Given the description of an element on the screen output the (x, y) to click on. 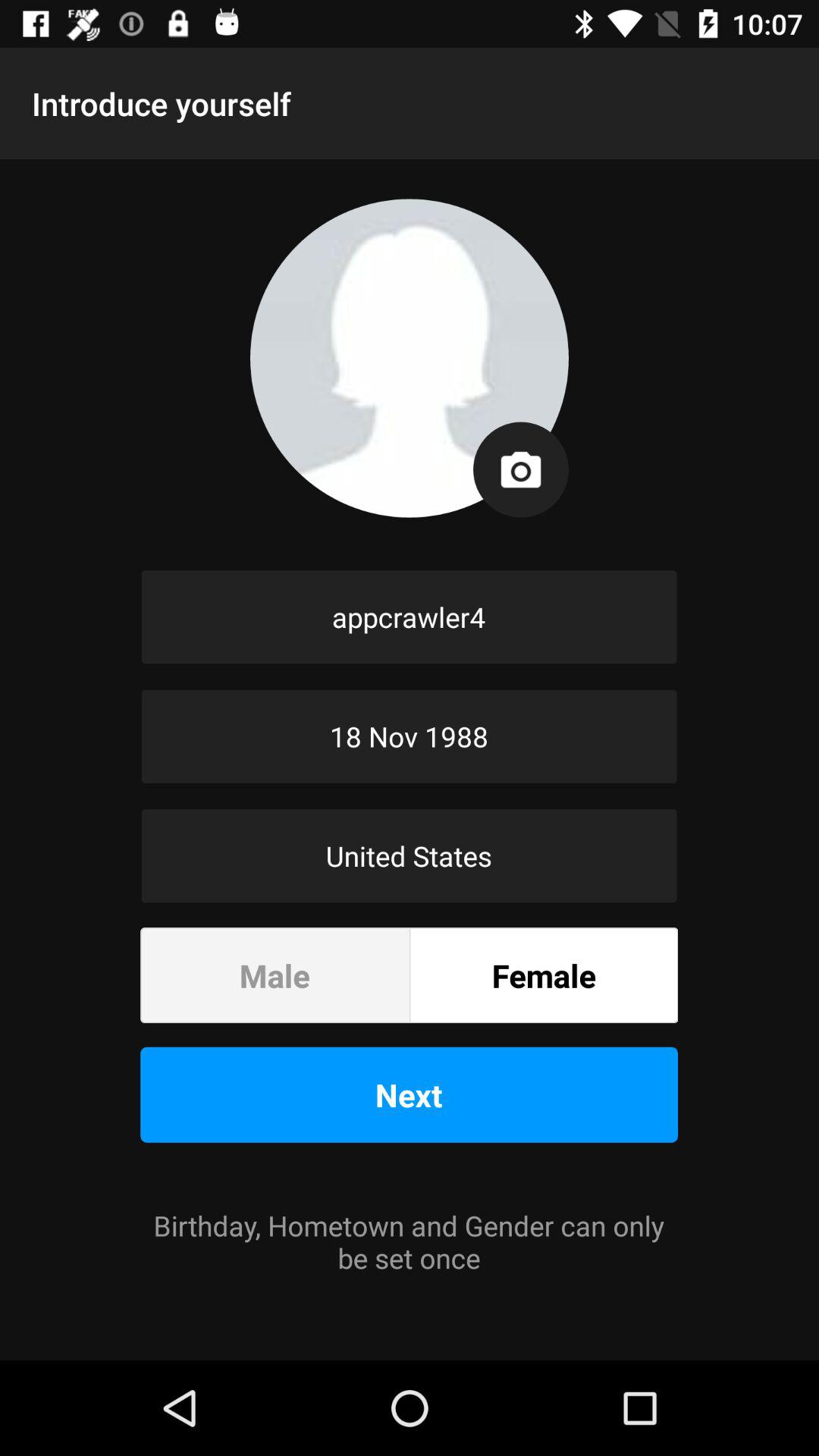
select the icon above the united states icon (408, 736)
